Given the description of an element on the screen output the (x, y) to click on. 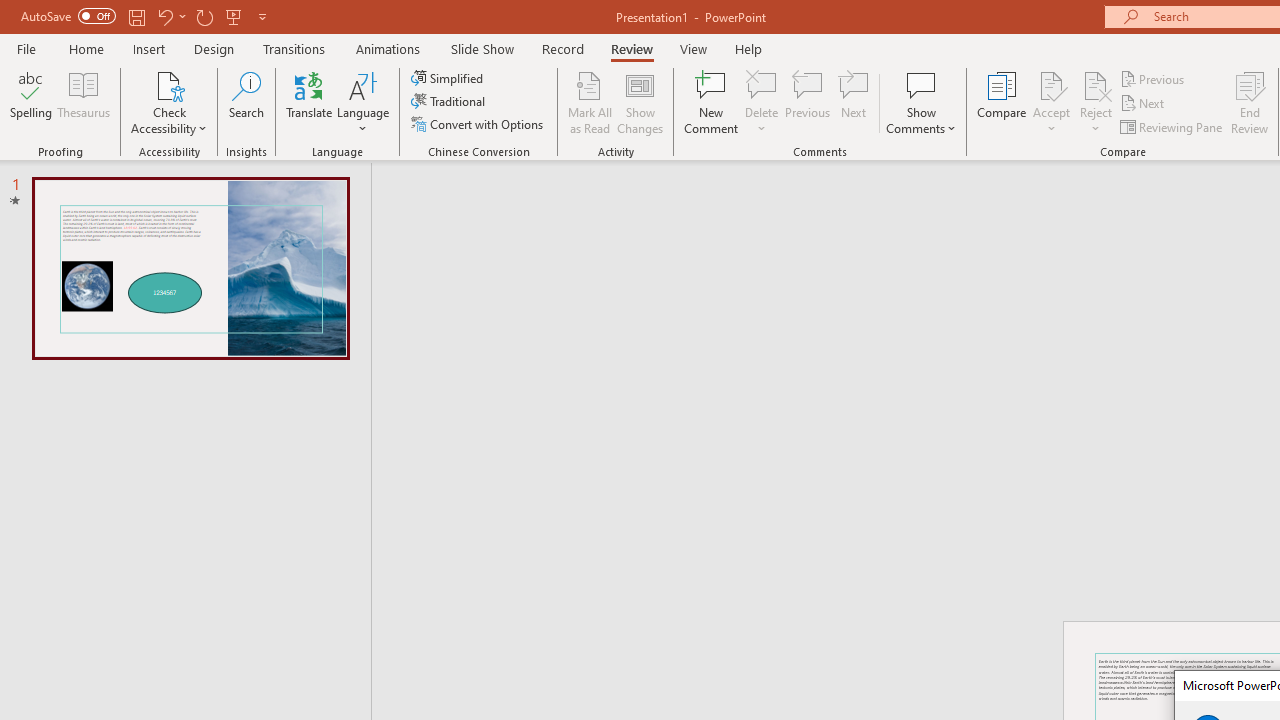
Thesaurus... (83, 102)
Next (1144, 103)
Reject (1096, 102)
New Comment (711, 102)
Show Comments (921, 102)
Reviewing Pane (1172, 126)
